Given the description of an element on the screen output the (x, y) to click on. 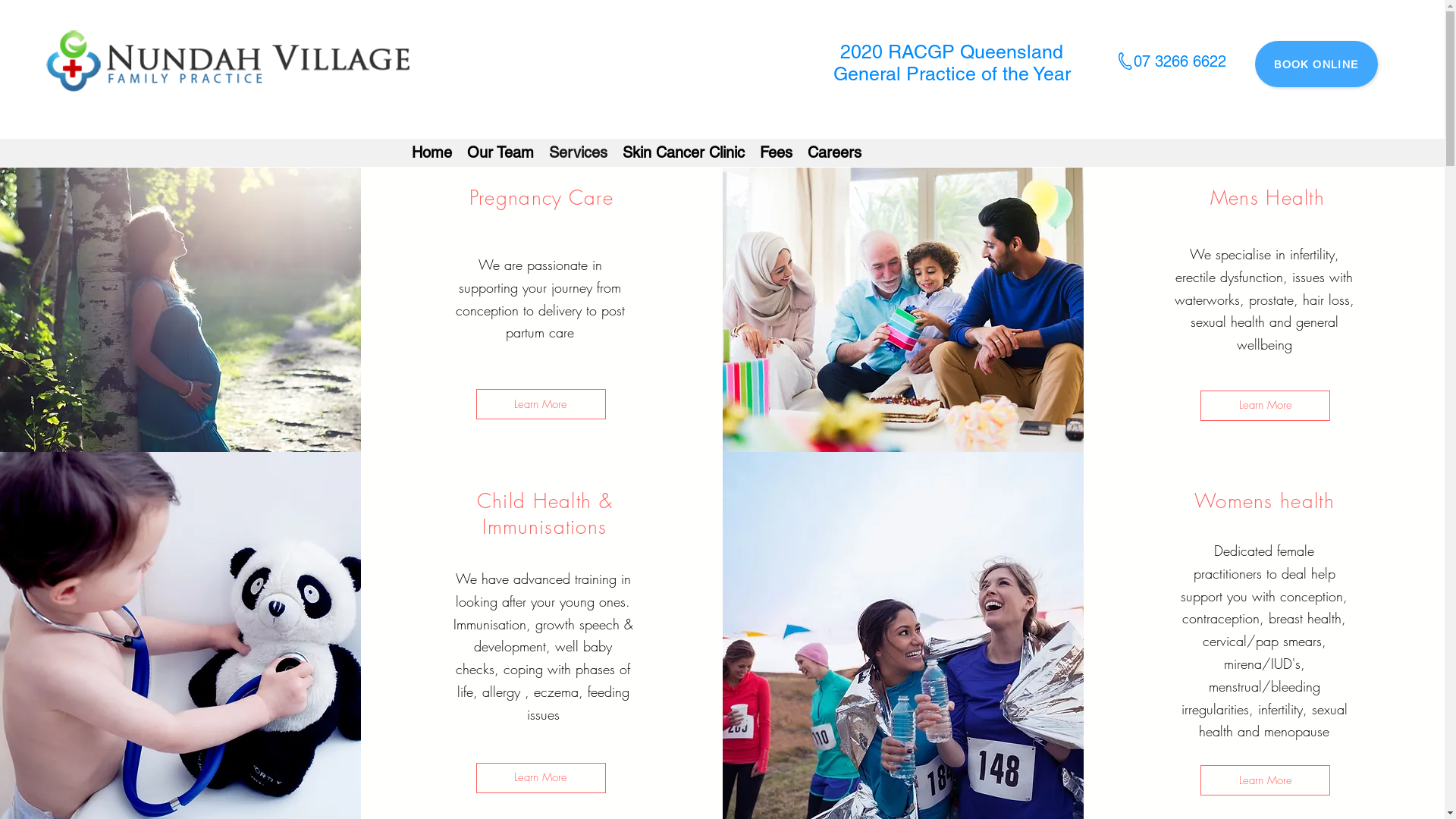
Our Team Element type: text (500, 152)
Learn More Element type: text (540, 404)
Learn More Element type: text (1265, 780)
BOOK ONLINE Element type: text (1316, 63)
Services Element type: text (578, 152)
Fees Element type: text (776, 152)
Learn More Element type: text (1265, 405)
Careers Element type: text (833, 152)
Learn More Element type: text (540, 777)
Home Element type: text (430, 152)
07 3266 6622 Element type: text (1179, 61)
Skin Cancer Clinic Element type: text (682, 152)
